Given the description of an element on the screen output the (x, y) to click on. 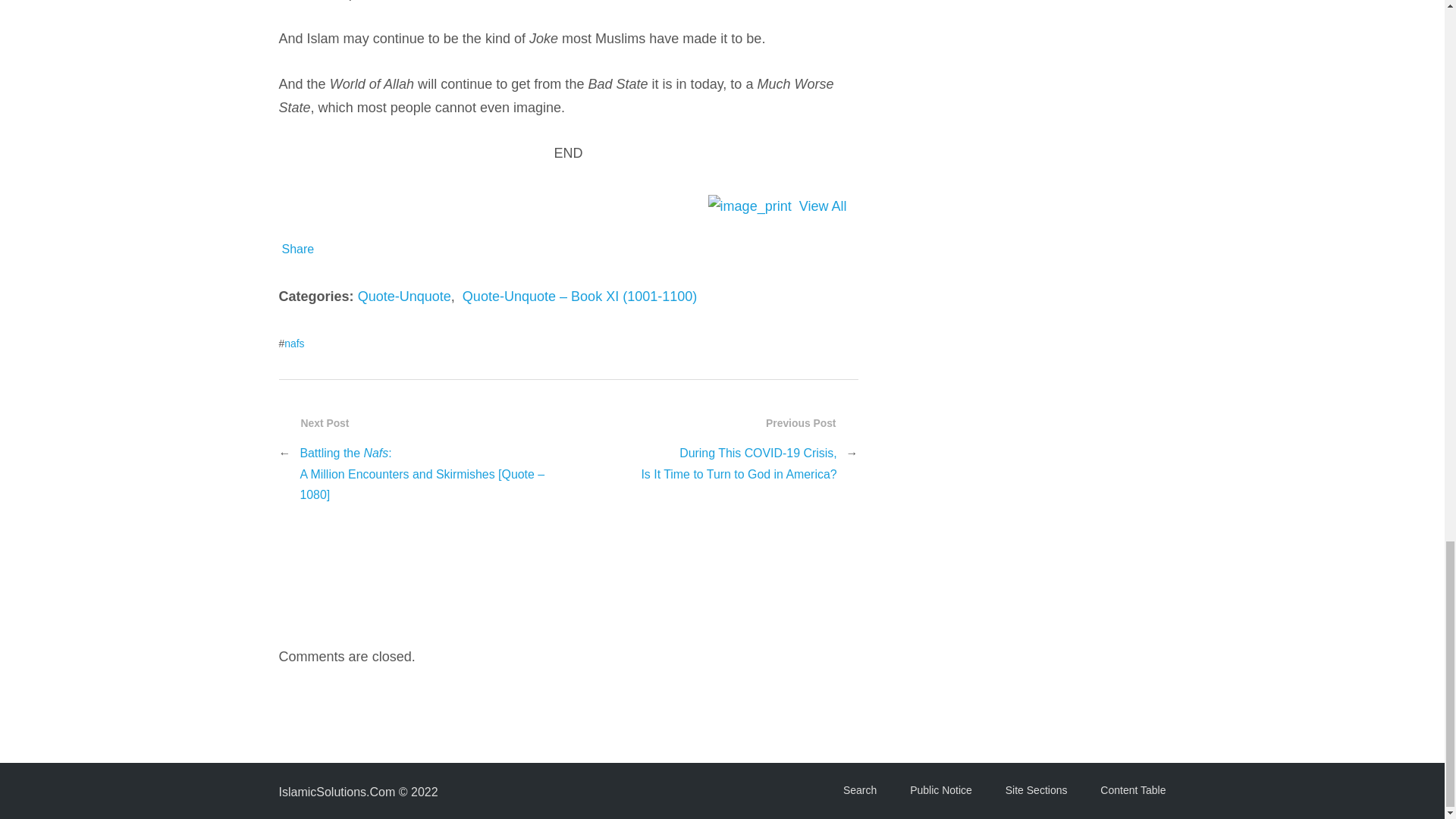
Print Content (749, 205)
